Given the description of an element on the screen output the (x, y) to click on. 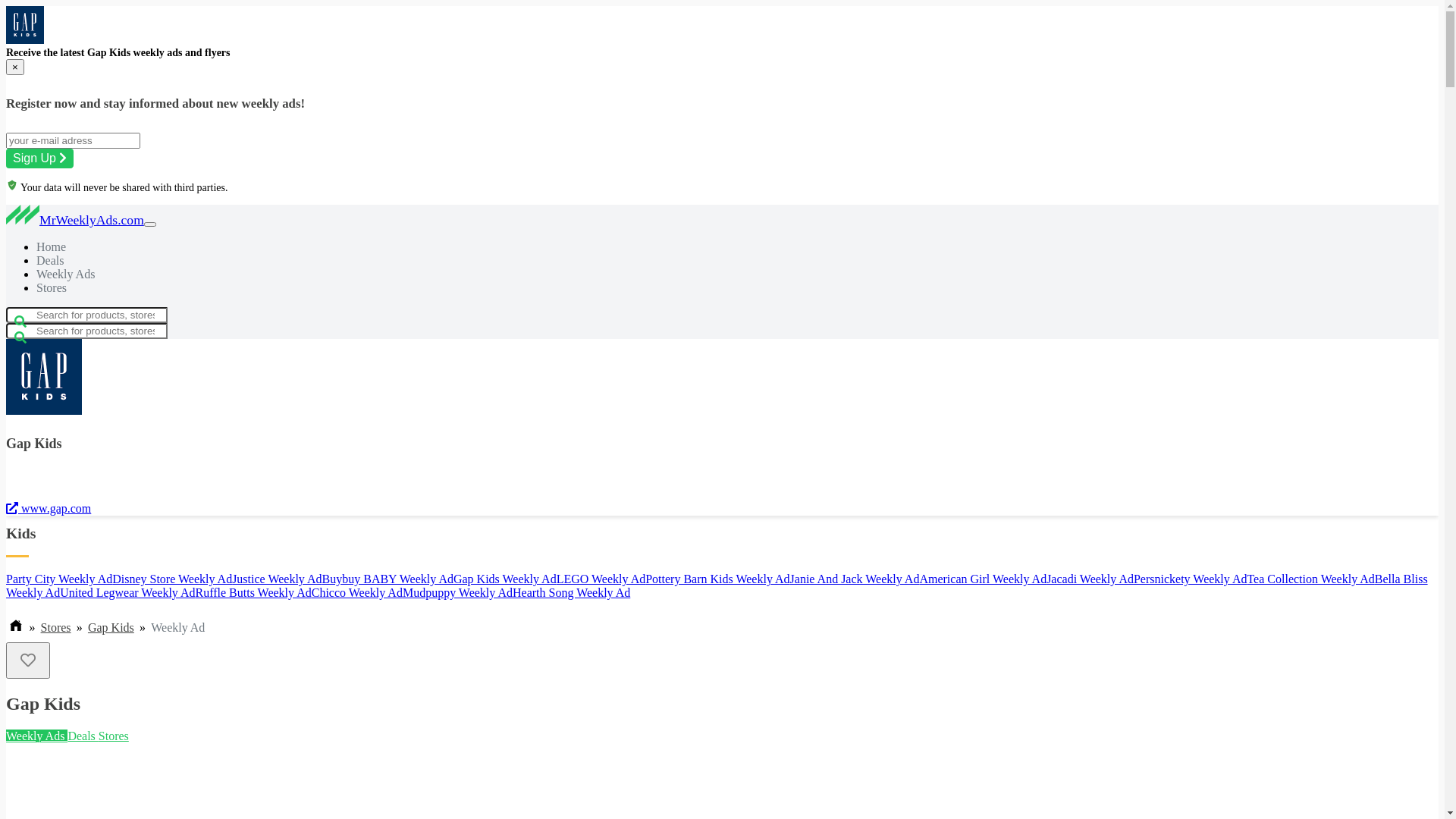
LEGO Weekly Ad Element type: text (601, 578)
American Girl Weekly Ad Element type: text (982, 578)
Ruffle Butts Weekly Ad Element type: text (253, 592)
Deals Element type: text (49, 260)
Jacadi Weekly Ad Element type: text (1089, 578)
Weekly Ads Element type: text (36, 735)
Deals Element type: text (82, 735)
Janie And Jack Weekly Ad Element type: text (854, 578)
Buybuy BABY Weekly Ad Element type: text (387, 578)
Justice Weekly Ad Element type: text (276, 578)
Persnickety Weekly Ad Element type: text (1190, 578)
Stores Element type: text (113, 735)
Hearth Song Weekly Ad Element type: text (571, 592)
Party City Weekly Ad Element type: text (59, 578)
Bella Bliss Weekly Ad Element type: text (716, 585)
Gap Kids Element type: hover (24, 24)
Pottery Barn Kids Weekly Ad Element type: text (717, 578)
Disney Store Weekly Ad Element type: text (172, 578)
MrWeeklyAds.com Element type: text (75, 219)
Stores Element type: text (51, 287)
Stores Element type: text (55, 627)
Tea Collection Weekly Ad Element type: text (1310, 578)
Gap Kids Weekly Ad Element type: text (504, 578)
www.gap.com Element type: text (48, 508)
Home Element type: text (50, 246)
United Legwear Weekly Ad Element type: text (126, 592)
Mudpuppy Weekly Ad Element type: text (457, 592)
Gap Kids Element type: hover (43, 376)
Sign Up Element type: text (39, 158)
Weekly Ads Element type: text (65, 273)
Gap Kids Element type: text (110, 627)
Chicco Weekly Ad Element type: text (356, 592)
